Given the description of an element on the screen output the (x, y) to click on. 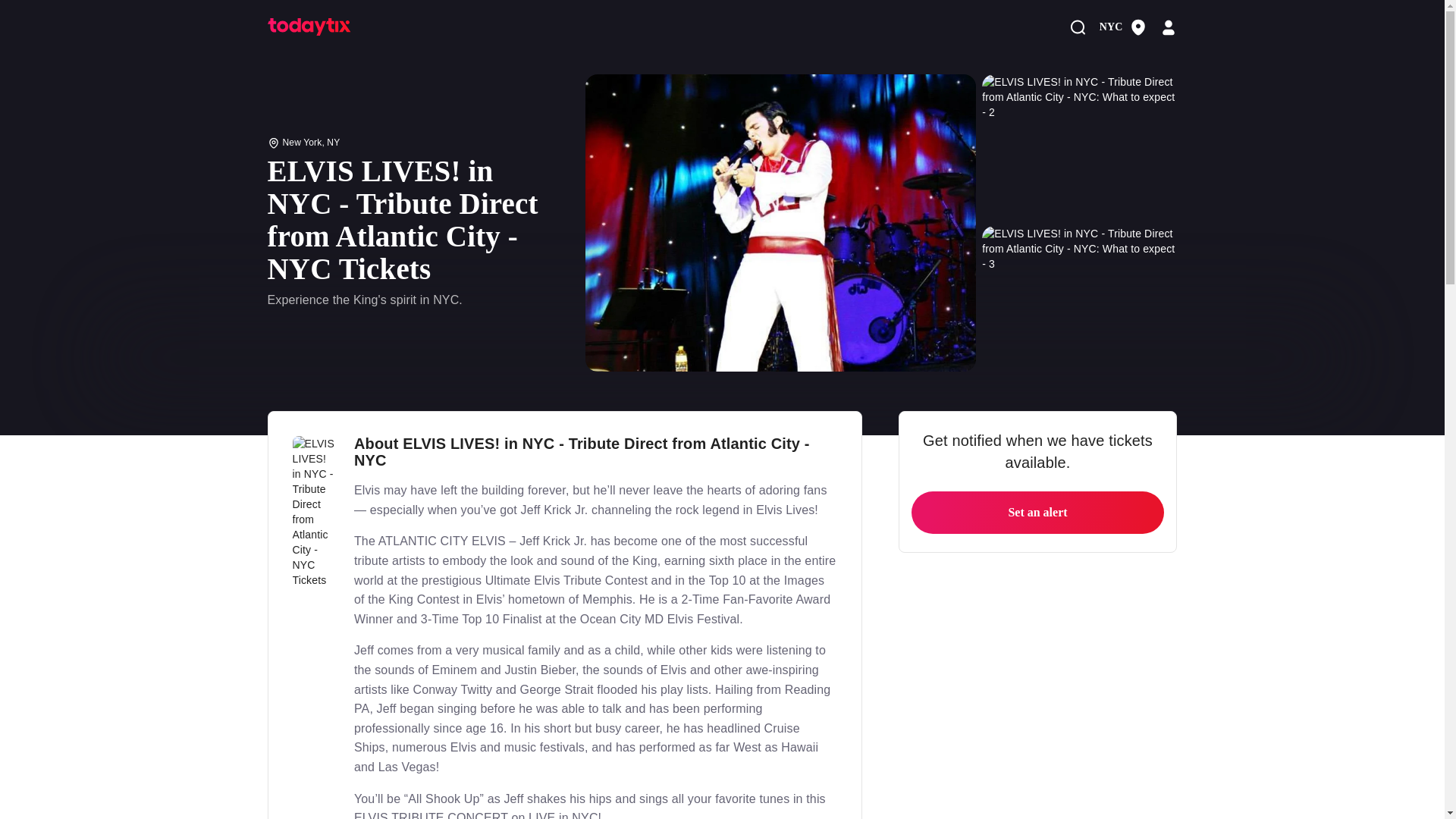
Set an alert (1037, 512)
